Given the description of an element on the screen output the (x, y) to click on. 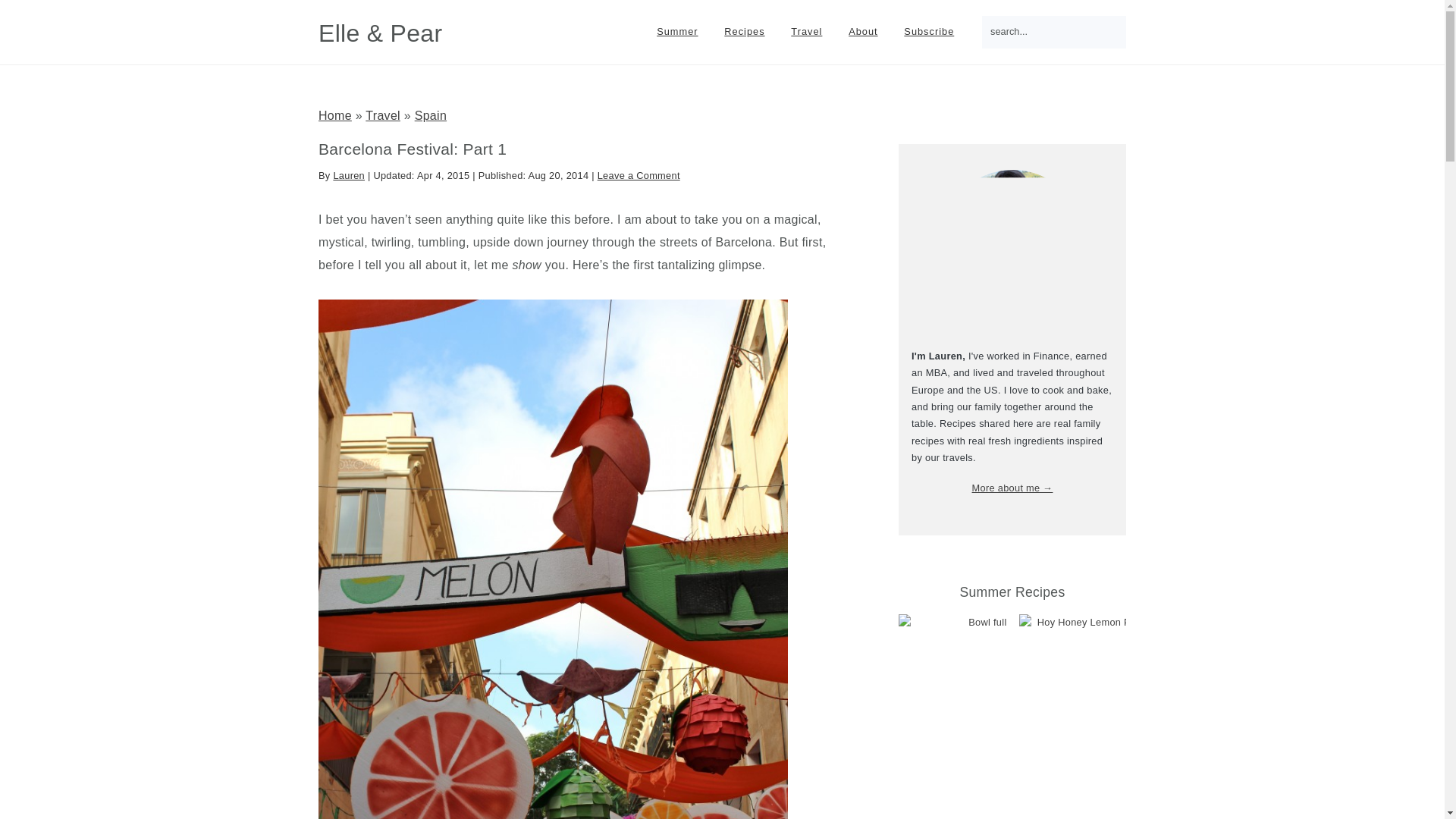
Spain (430, 115)
Home (335, 115)
Summer (677, 32)
Subscribe (928, 32)
Leave a Comment (637, 174)
Creamy Pesto Gnocchi with Peas and Carrots (1088, 716)
Hot Honey Lemon Pepper Wings (1208, 716)
Lauren (349, 174)
About (862, 32)
Recipes (744, 32)
Travel (805, 32)
Travel (382, 115)
